Given the description of an element on the screen output the (x, y) to click on. 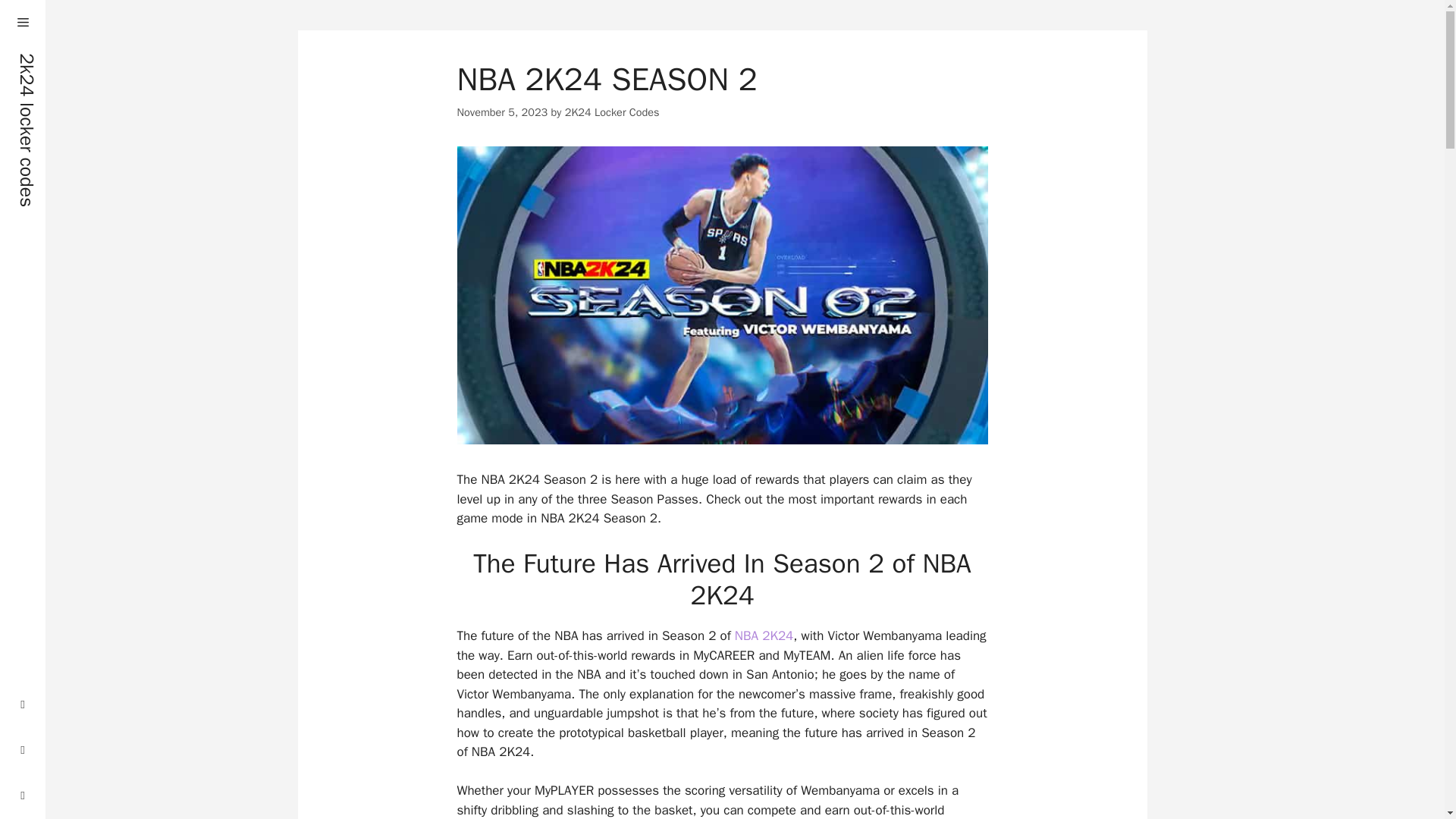
2K24 Locker Codes (611, 111)
NBA 2K24 (764, 635)
View all posts by 2K24 Locker Codes (611, 111)
